Given the description of an element on the screen output the (x, y) to click on. 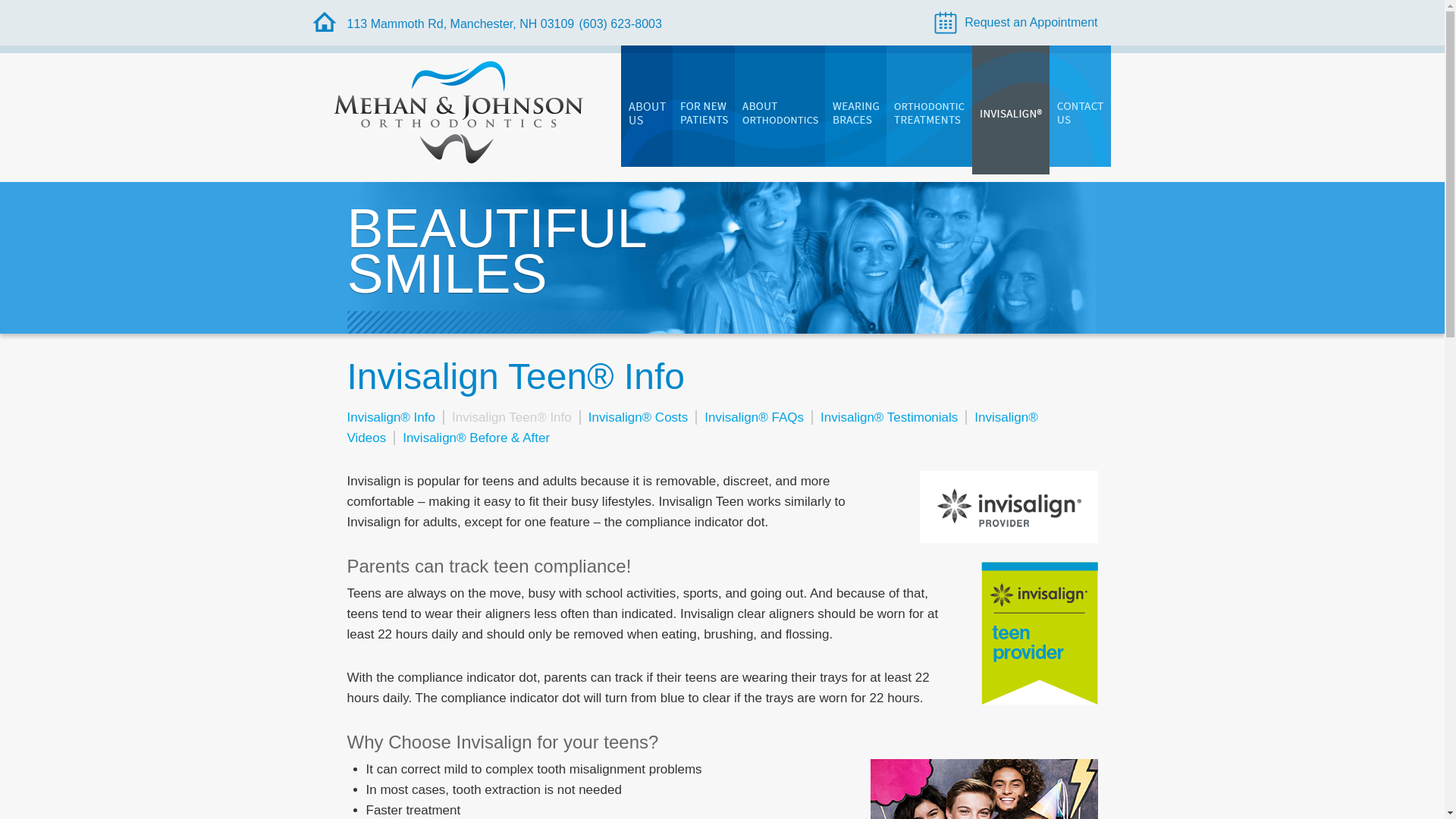
Address (463, 22)
113 Mammoth Rd, Manchester, NH 03109 (463, 22)
Request an Appointment (1015, 22)
Calender (1015, 22)
